Given the description of an element on the screen output the (x, y) to click on. 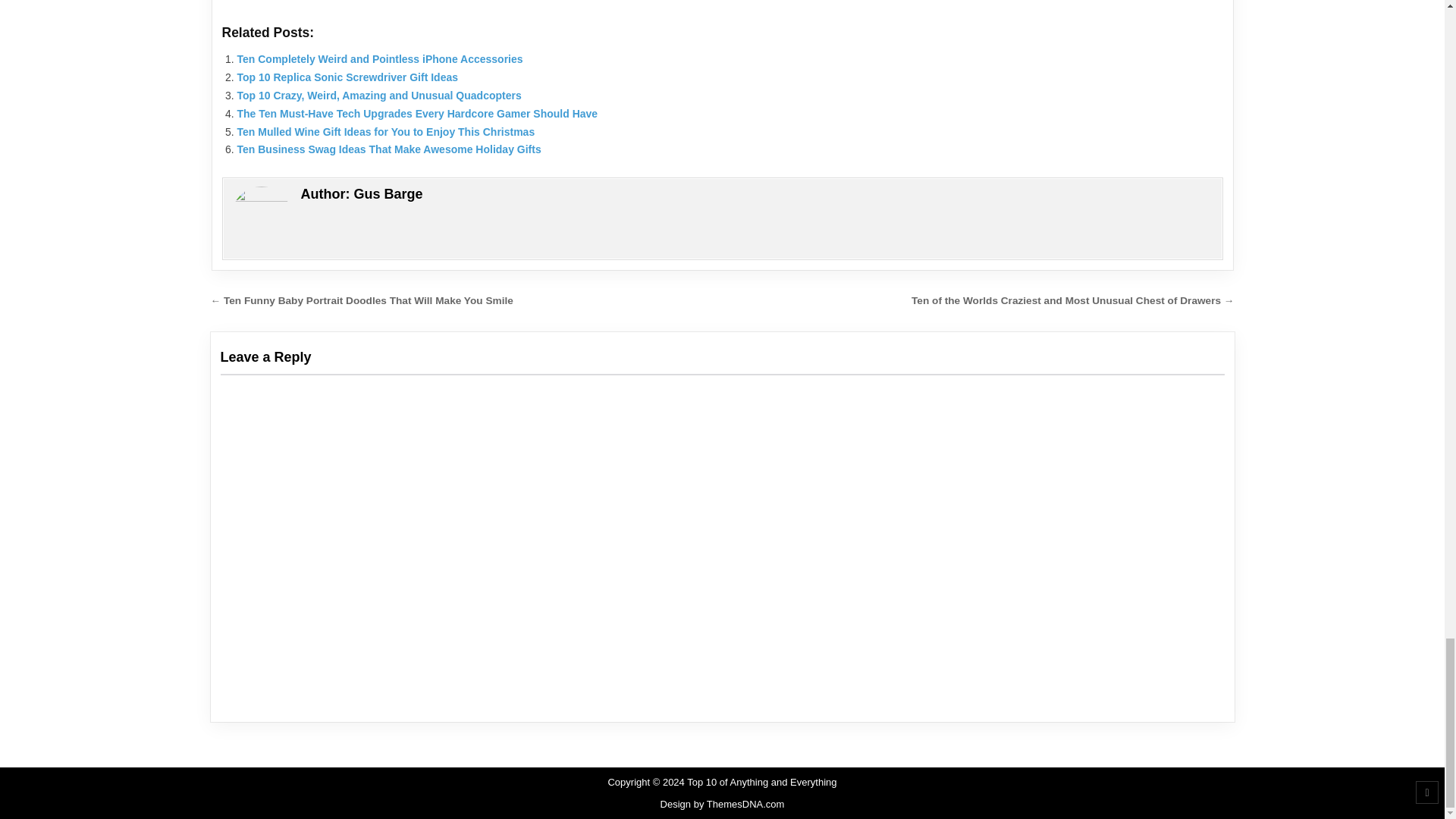
Ten Completely Weird and Pointless iPhone Accessories (378, 59)
Top 10 Crazy, Weird, Amazing and Unusual Quadcopters (378, 95)
Top 10 Replica Sonic Screwdriver Gift Ideas (346, 77)
